Given the description of an element on the screen output the (x, y) to click on. 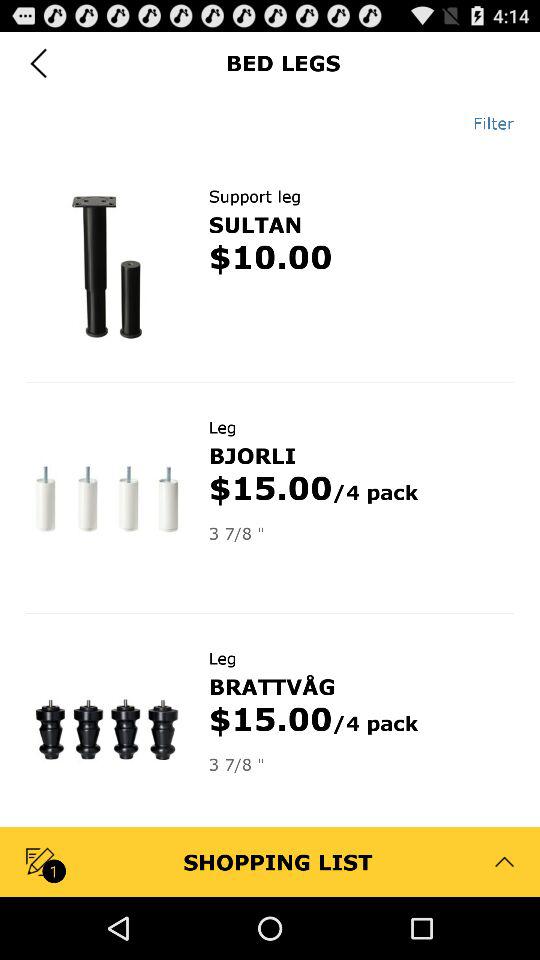
turn off the icon above the $10.00 item (255, 224)
